Given the description of an element on the screen output the (x, y) to click on. 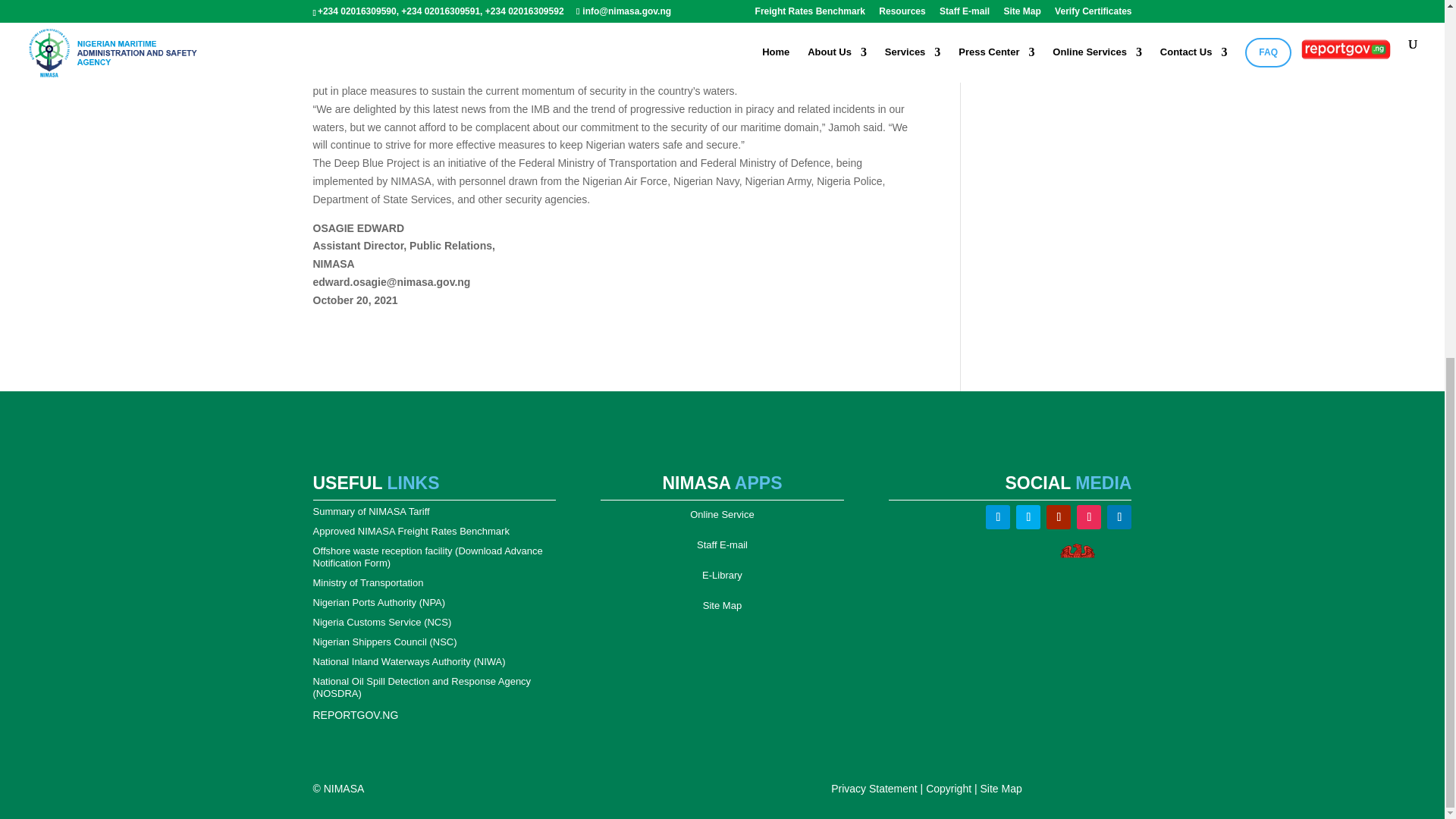
Follow on Twitter (1028, 517)
Follow on LinkedIn (1118, 517)
Follow on Facebook (997, 517)
Follow on Instagram (1088, 517)
Follow on Youtube (1058, 517)
